Given the description of an element on the screen output the (x, y) to click on. 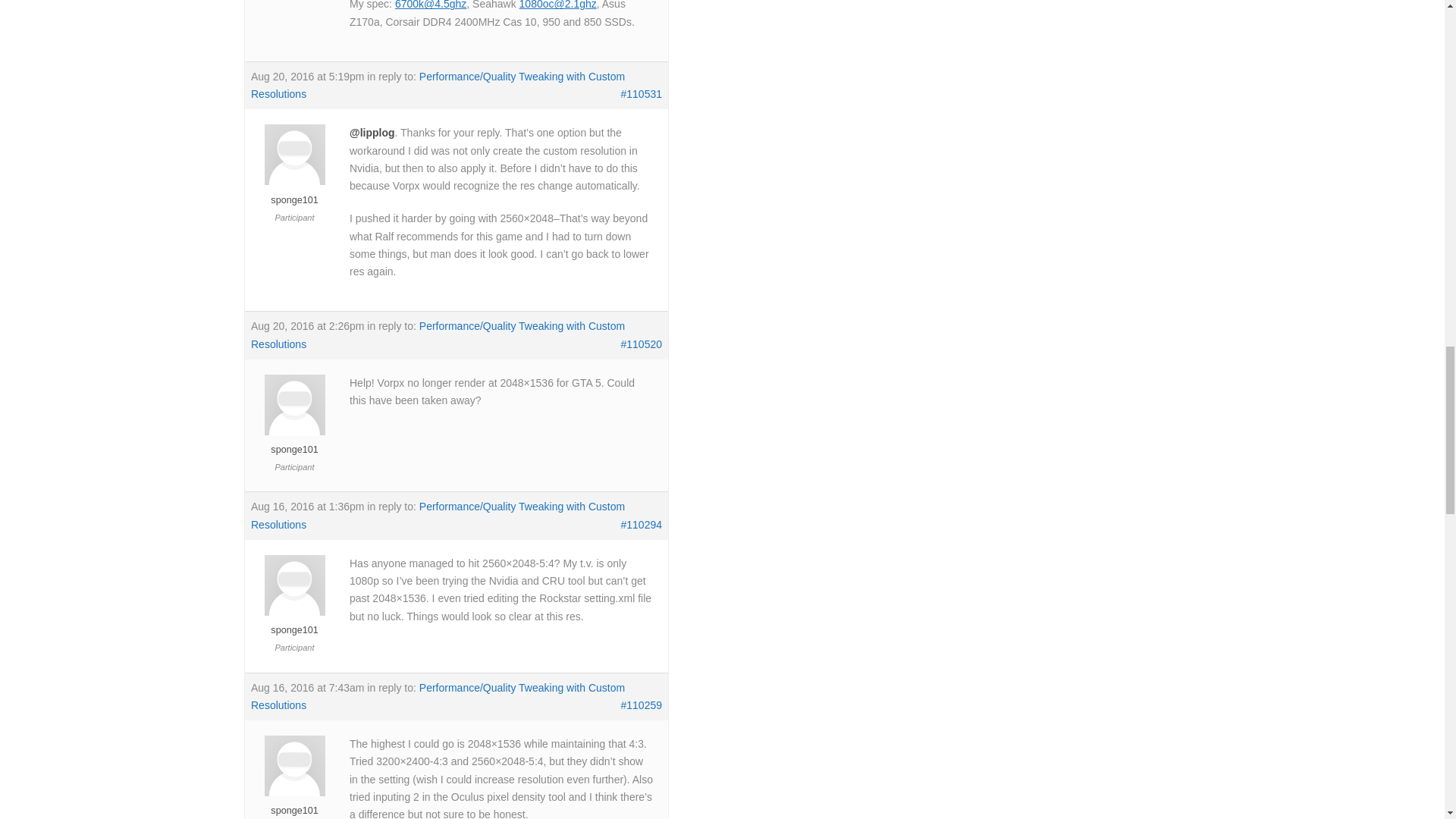
View sponge101's profile (293, 192)
View sponge101's profile (293, 442)
View sponge101's profile (293, 803)
View sponge101's profile (293, 623)
